Given the description of an element on the screen output the (x, y) to click on. 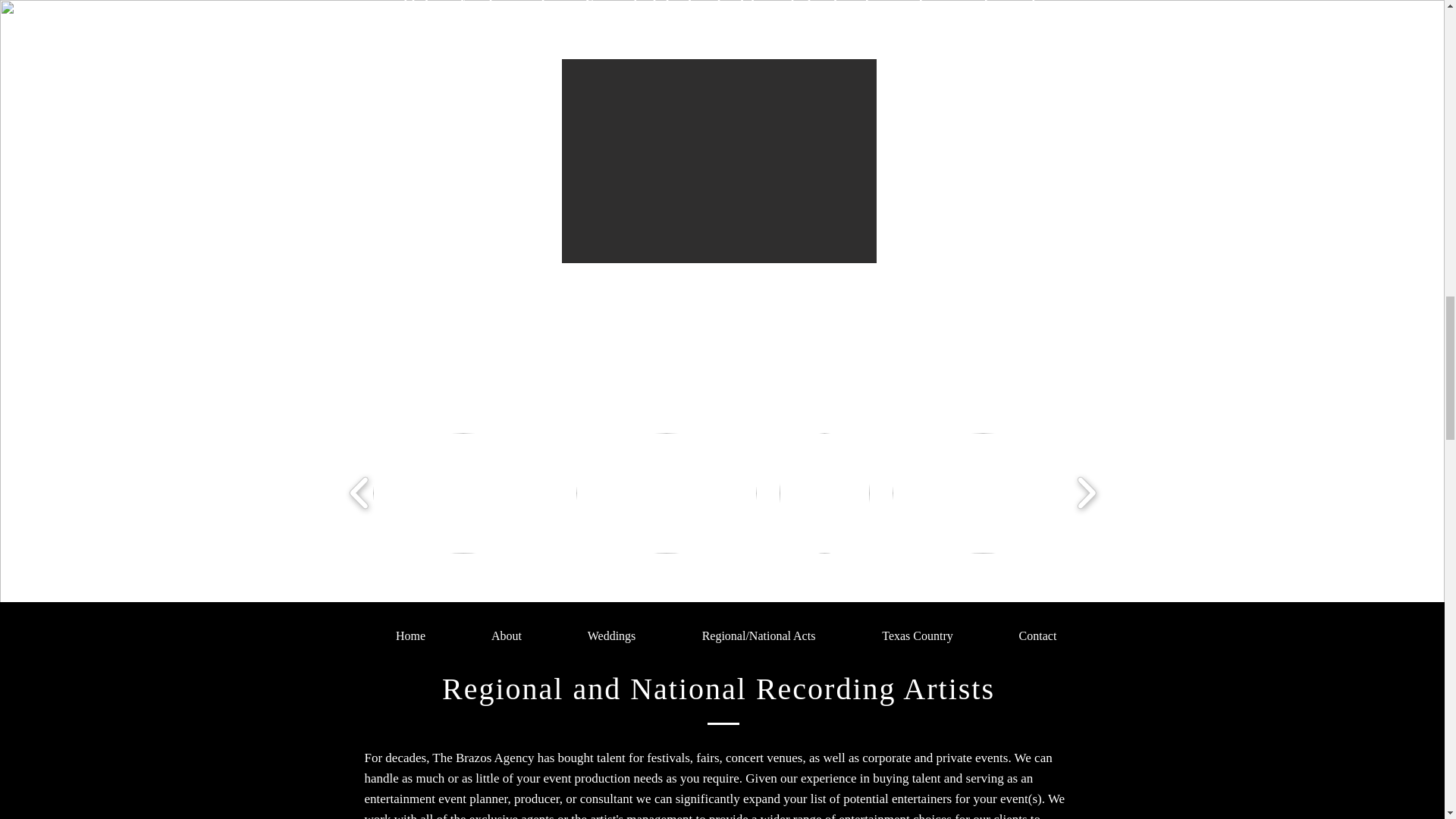
Texas Country (917, 636)
Weddings (611, 636)
Contact (1037, 636)
Home (410, 636)
About (506, 636)
